Given the description of an element on the screen output the (x, y) to click on. 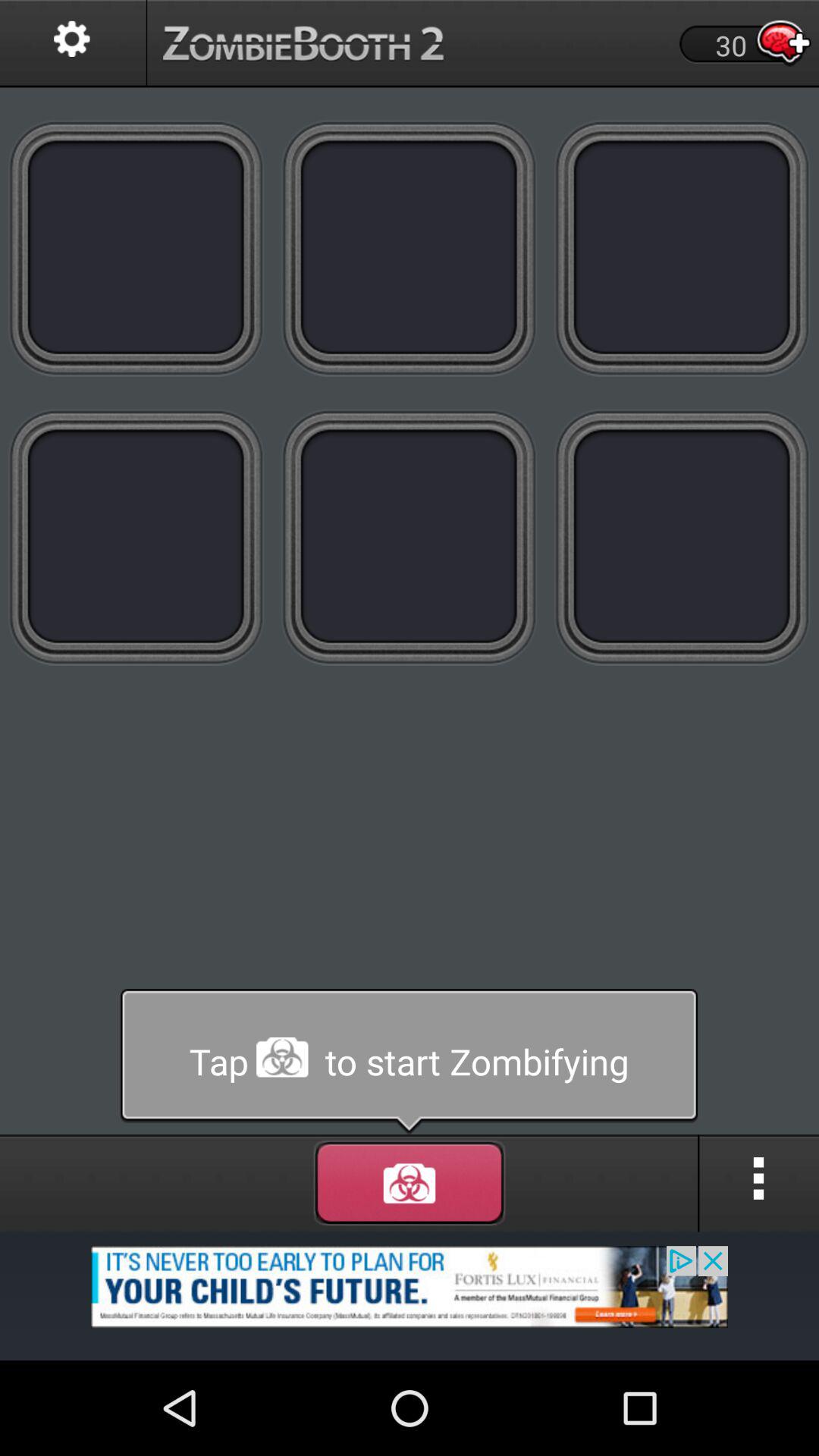
new pega (682, 247)
